Given the description of an element on the screen output the (x, y) to click on. 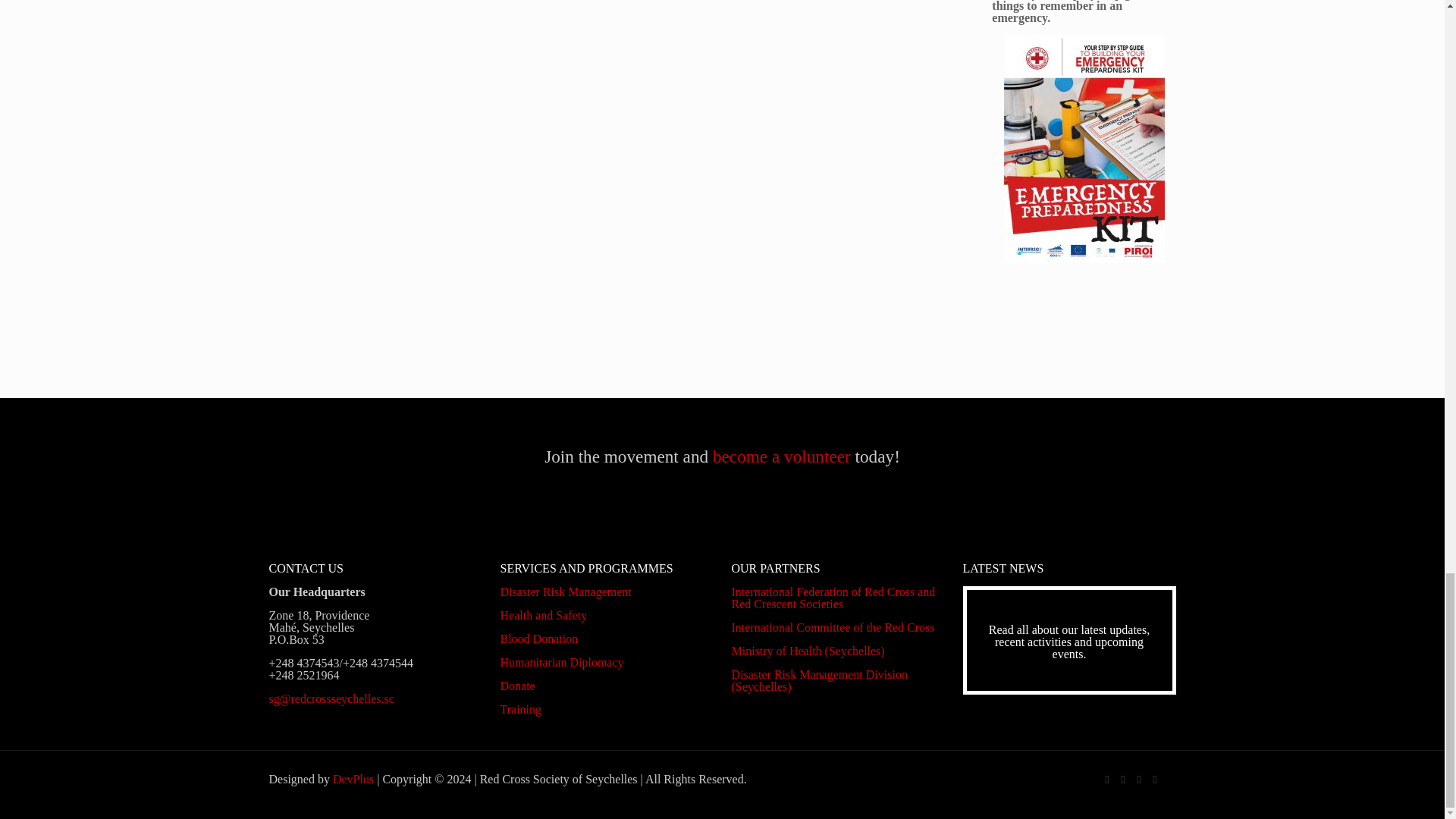
Facebook (1106, 779)
YouTube (1138, 779)
Instagram (1155, 779)
Disaster Risk Management (565, 591)
Health and Safety (544, 615)
